Given the description of an element on the screen output the (x, y) to click on. 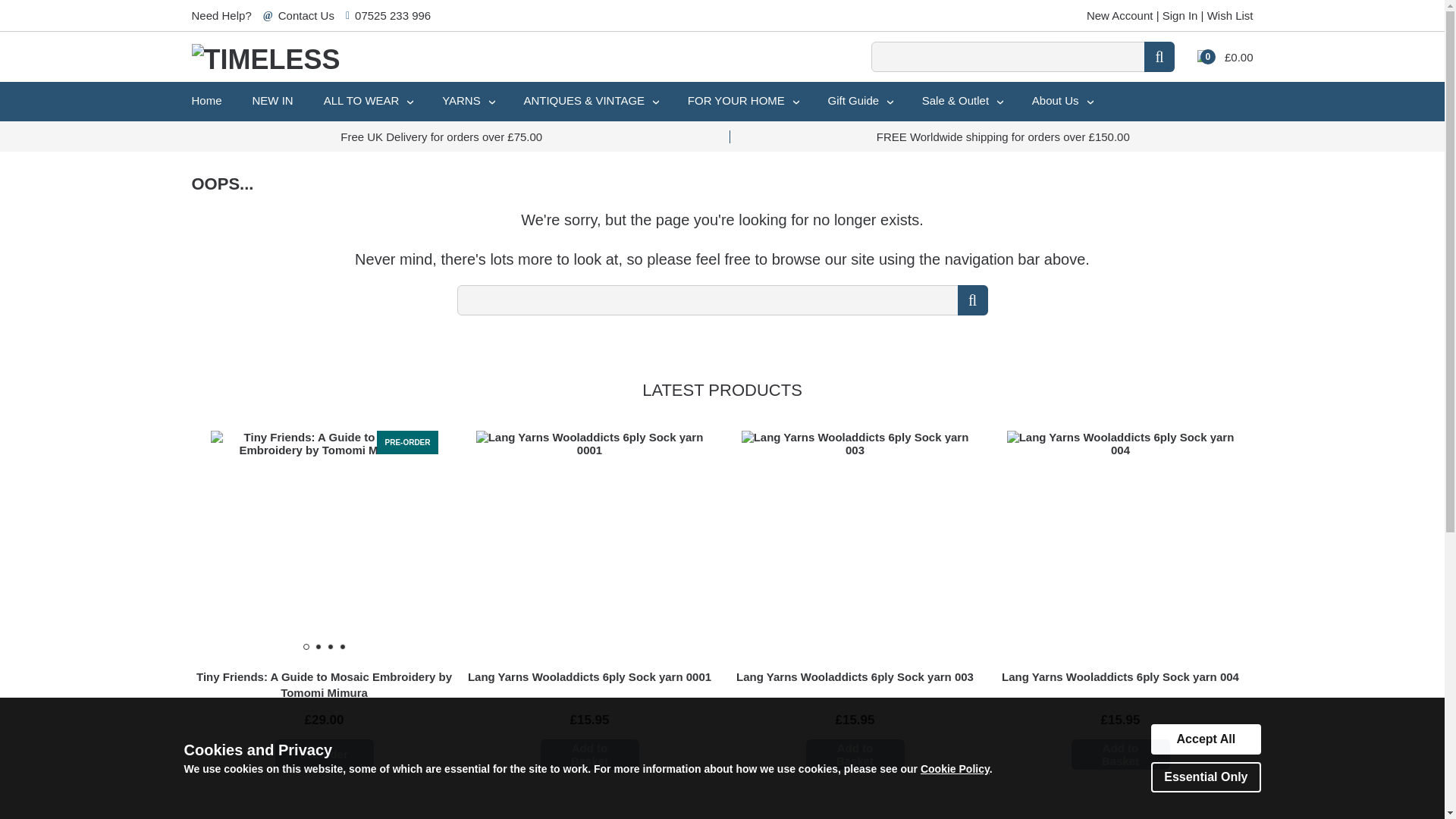
Home (205, 100)
Go (1159, 56)
07525 233 996 (392, 15)
YARNS (467, 101)
Go (971, 300)
Sign In (1179, 15)
NEW IN (272, 100)
ALL TO WEAR (367, 101)
Contact Us (306, 15)
0 (1202, 57)
